Given the description of an element on the screen output the (x, y) to click on. 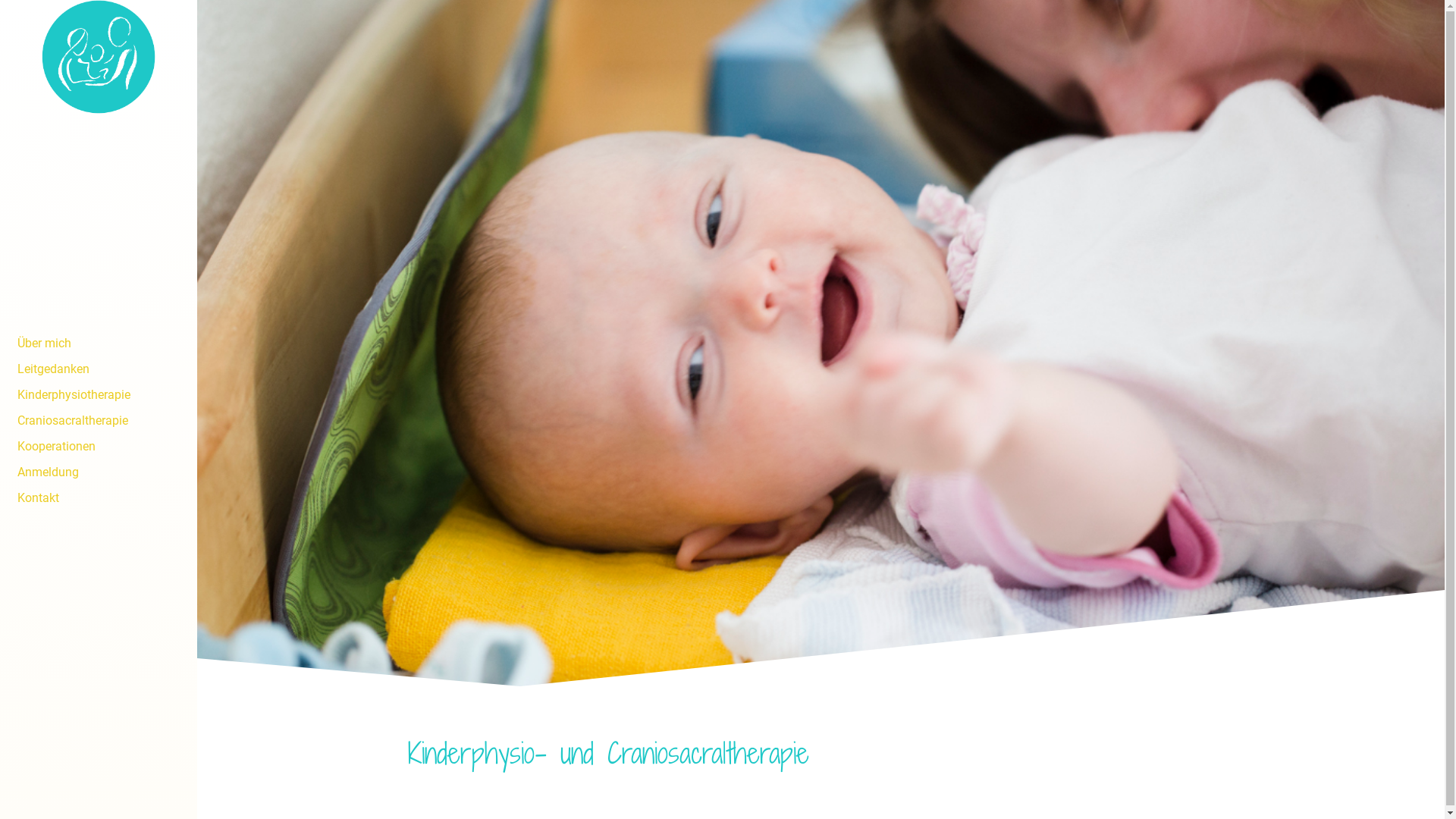
Kooperationen Element type: text (98, 445)
Craniosacraltherapie Element type: text (98, 420)
Kinderphysiotherapie Element type: text (98, 394)
Leitgedanken Element type: text (98, 368)
  Element type: hover (98, 324)
Kontakt Element type: text (98, 497)
Anmeldung Element type: text (98, 471)
